Given the description of an element on the screen output the (x, y) to click on. 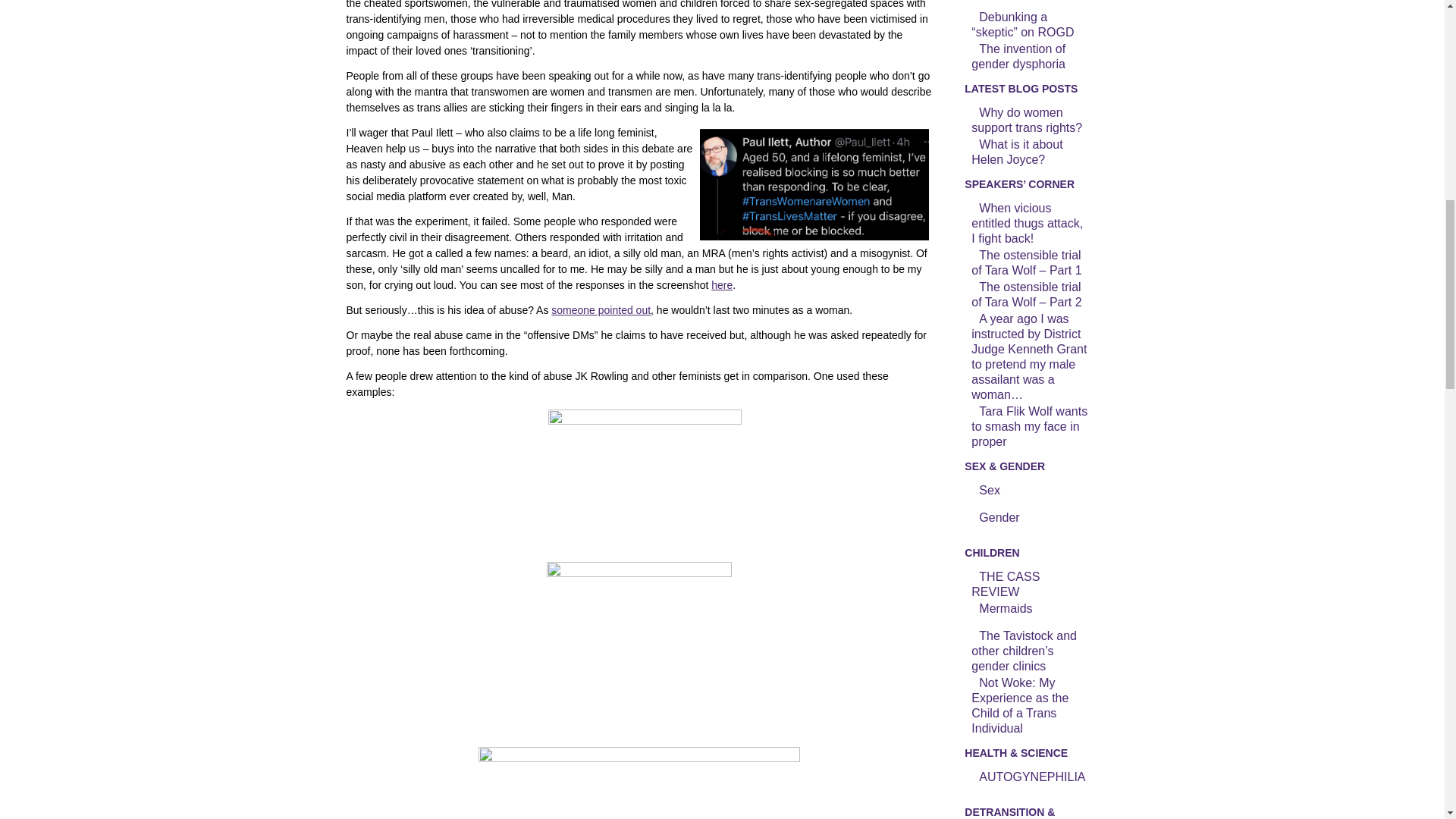
Why do women support trans rights? (1029, 120)
The invention of gender dysphoria (1029, 56)
here (721, 285)
PEAK TRANS LATEST VIDEOS (1029, 4)
someone pointed out (600, 309)
Debunking a "skeptic" on ROGD (1029, 24)
LATEST BLOG POSTS (1029, 88)
